Given the description of an element on the screen output the (x, y) to click on. 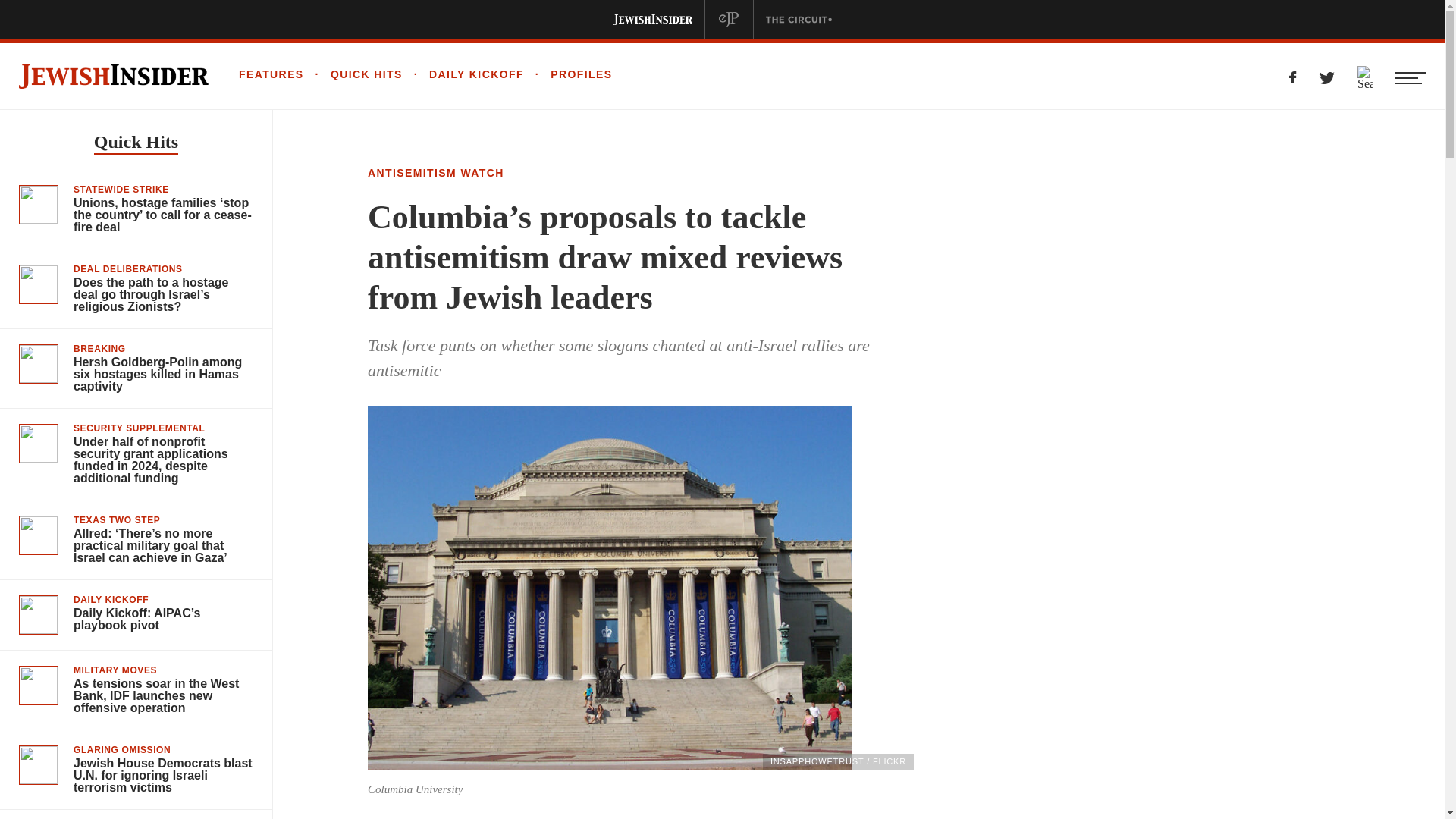
PROFILES (568, 73)
FEATURES (271, 73)
Quick Hits (135, 143)
DAILY KICKOFF (463, 73)
QUICK HITS (353, 73)
